Given the description of an element on the screen output the (x, y) to click on. 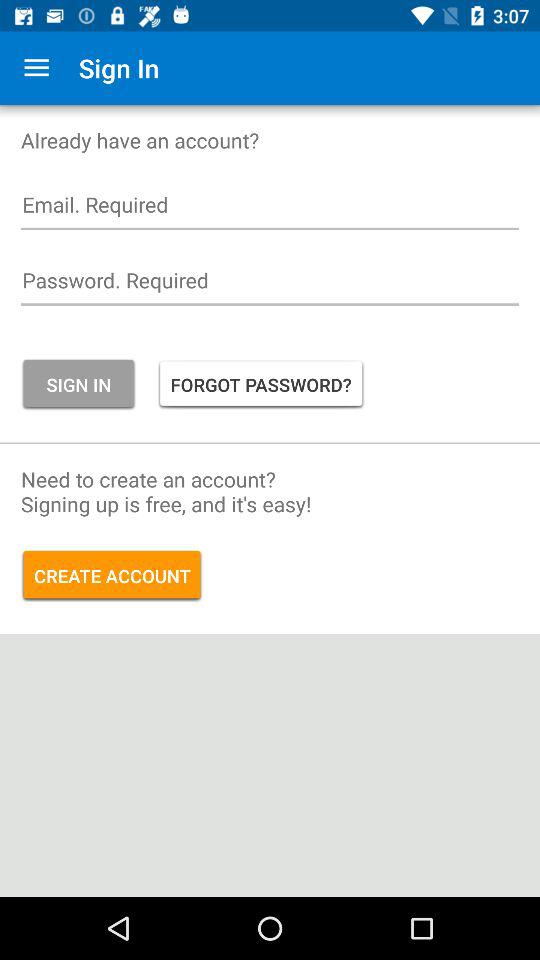
press icon to the left of the sign in icon (36, 68)
